Given the description of an element on the screen output the (x, y) to click on. 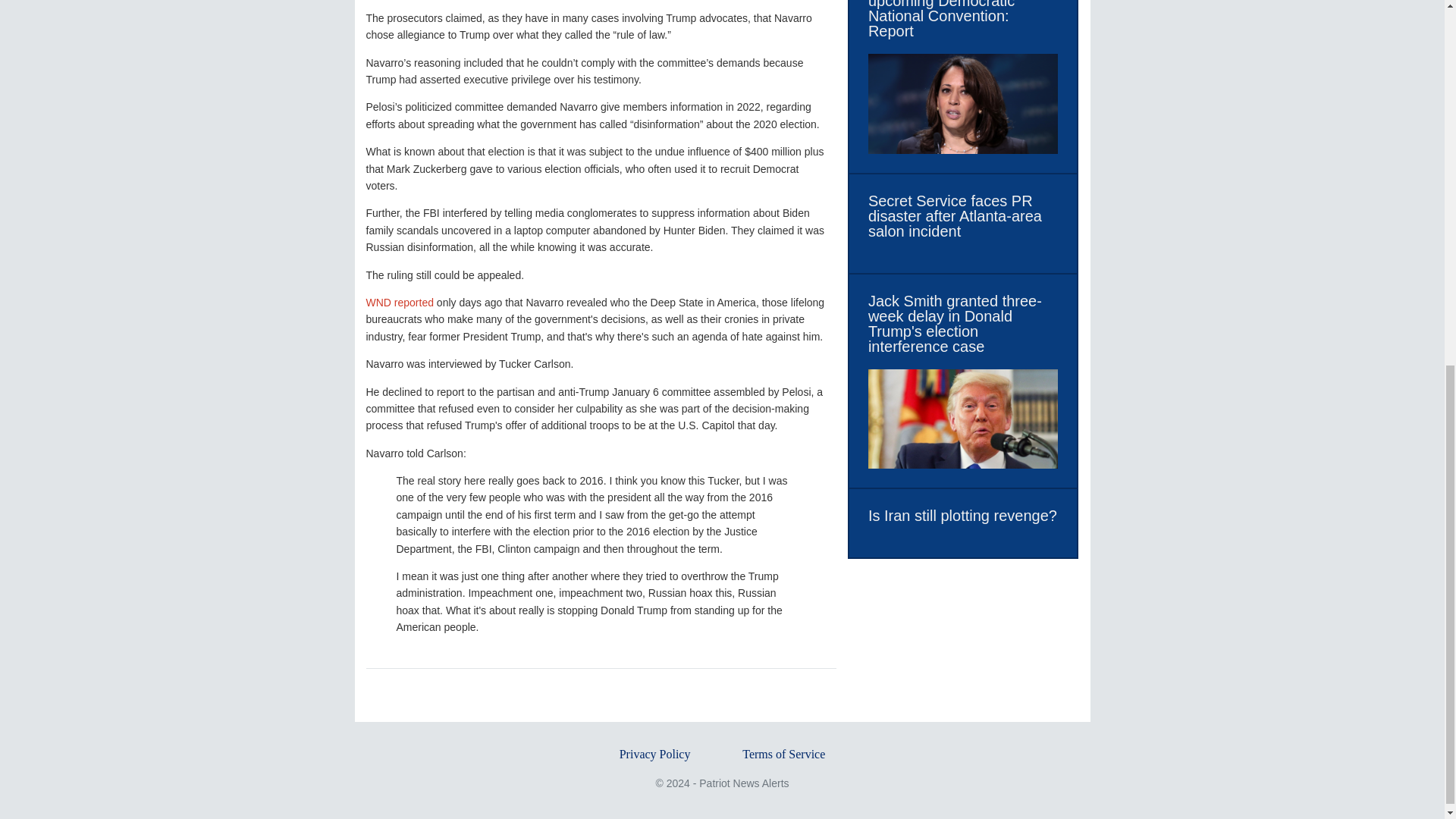
Is Iran still plotting revenge? (962, 515)
Privacy Policy (655, 754)
WND reported (398, 302)
Terms of Service (783, 754)
